Given the description of an element on the screen output the (x, y) to click on. 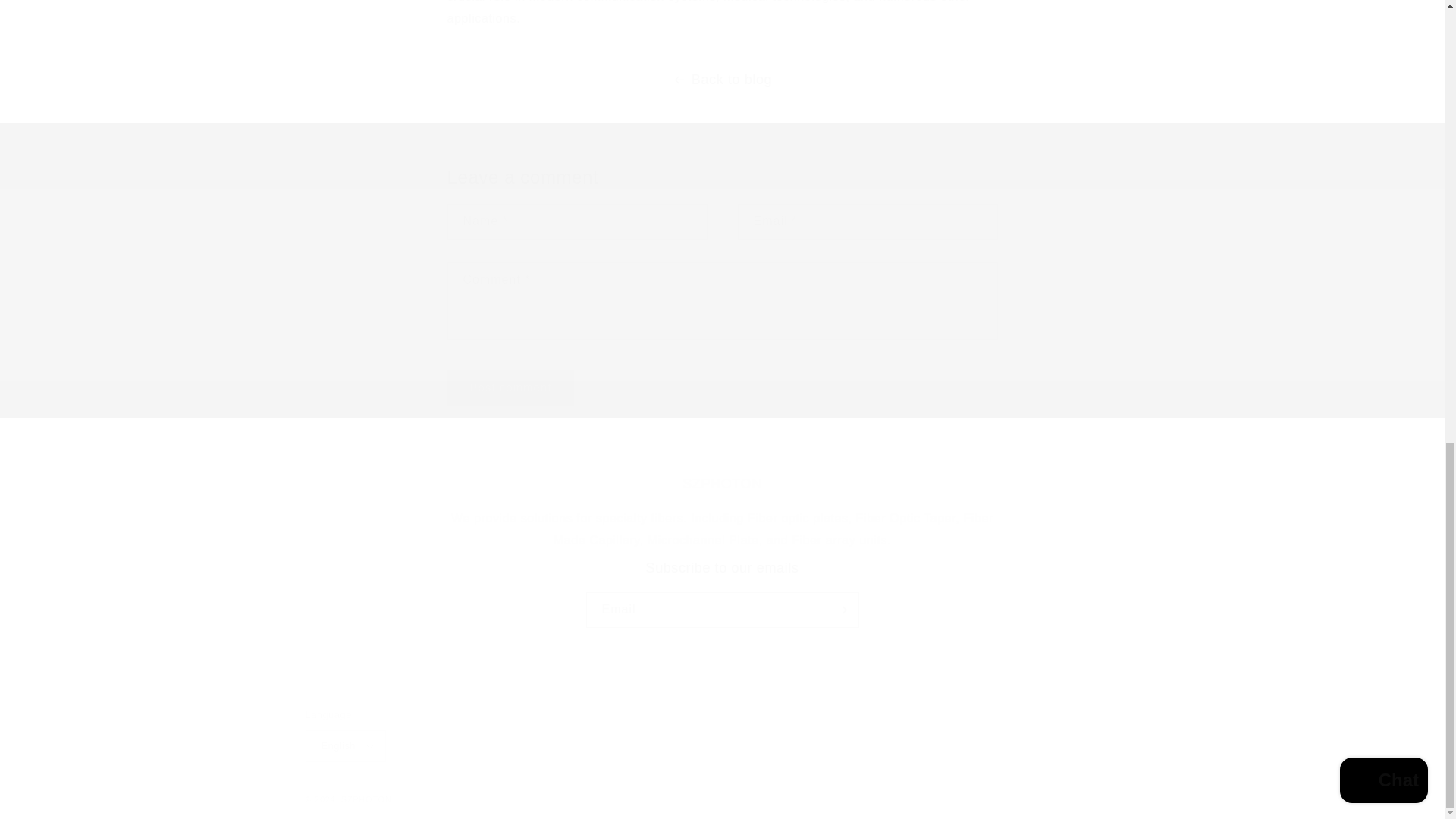
Post comment (510, 387)
